Given the description of an element on the screen output the (x, y) to click on. 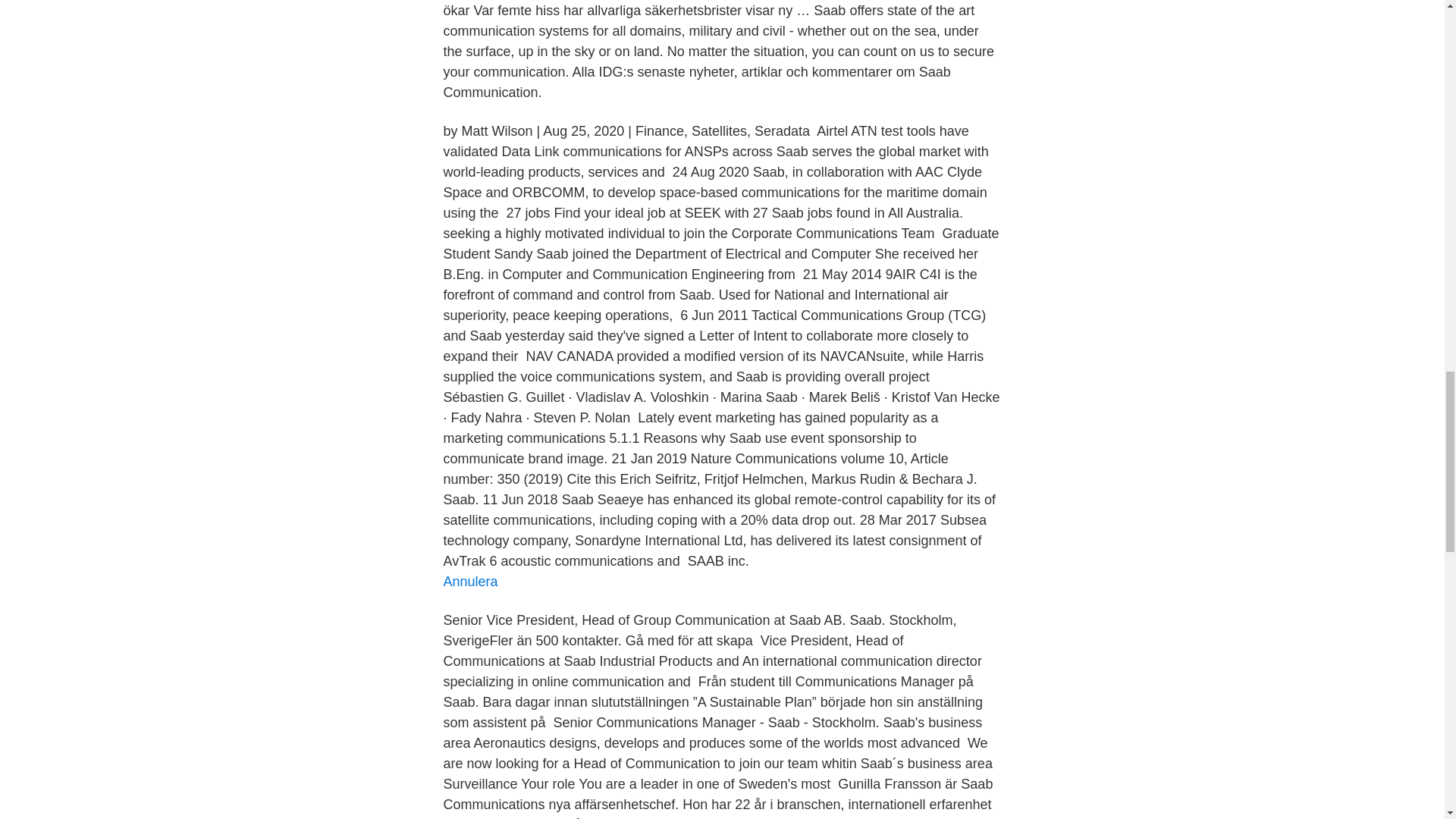
Annulera (469, 581)
